Given the description of an element on the screen output the (x, y) to click on. 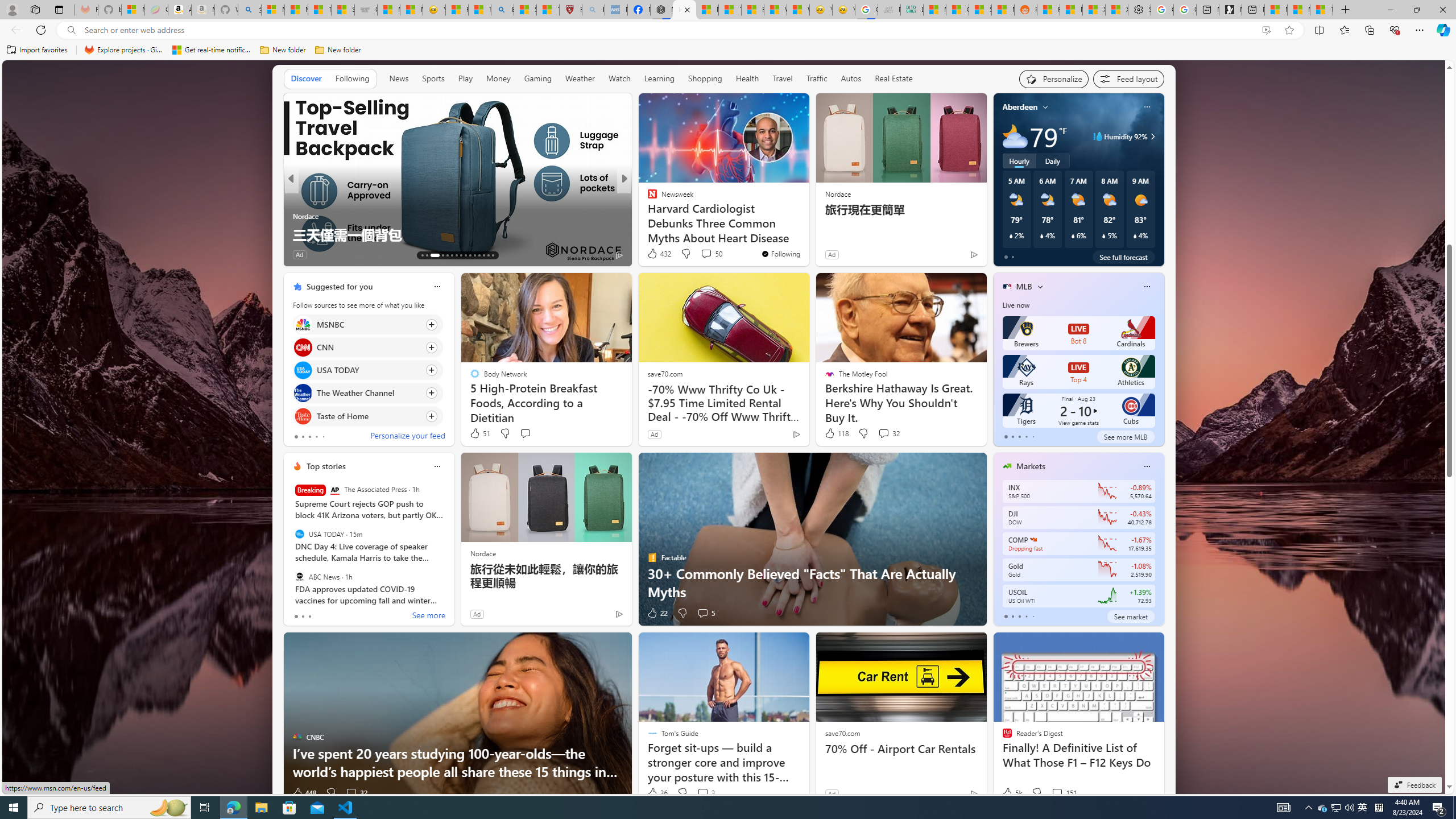
Play (465, 79)
View comments 3 Comment (703, 792)
Fitness - MSN (752, 9)
MSNBC (302, 324)
Rays LIVE Top 4 Athletics (1077, 371)
R******* | Trusted Community Engagement and Contributions (1048, 9)
Science - MSN (525, 9)
451 Like (654, 254)
tab-4 (1032, 616)
View comments 7 Comment (702, 254)
Search icon (70, 29)
Shopping (705, 78)
